Given the description of an element on the screen output the (x, y) to click on. 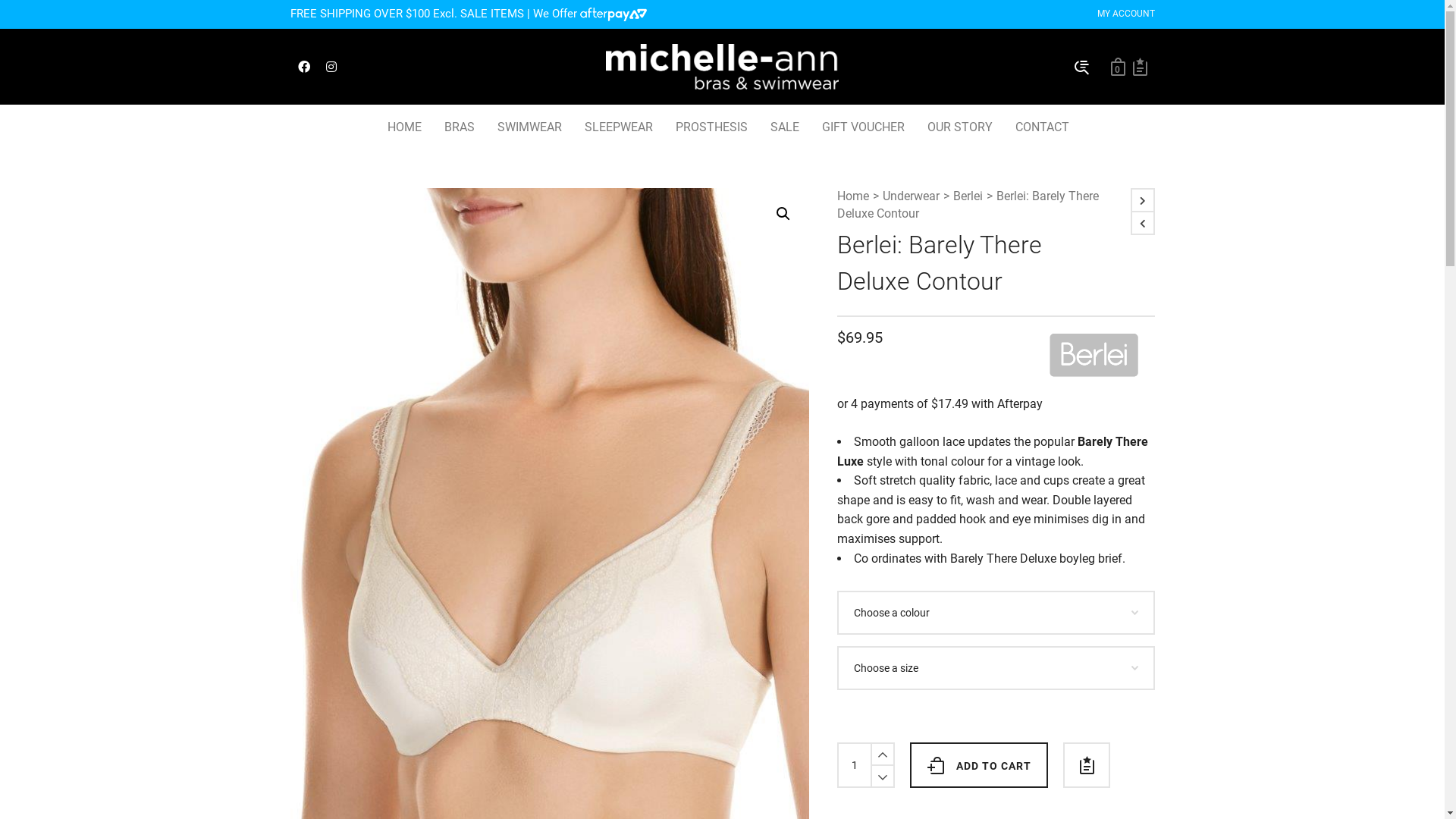
SWIMWEAR Element type: text (528, 127)
MY ACCOUNT Element type: text (1124, 13)
Berlei Element type: text (967, 196)
HOME Element type: text (404, 127)
Home Element type: text (853, 196)
GIFT VOUCHER Element type: text (862, 127)
BRAS Element type: text (458, 127)
Qty Element type: hover (854, 764)
ADD TO CART Element type: text (979, 764)
0 Element type: text (1117, 66)
SALE Element type: text (783, 127)
Underwear Element type: text (910, 196)
CONTACT Element type: text (1042, 127)
SLEEPWEAR Element type: text (618, 127)
PROSTHESIS Element type: text (711, 127)
OUR STORY Element type: text (960, 127)
View your wishlist Element type: hover (1139, 66)
